Given the description of an element on the screen output the (x, y) to click on. 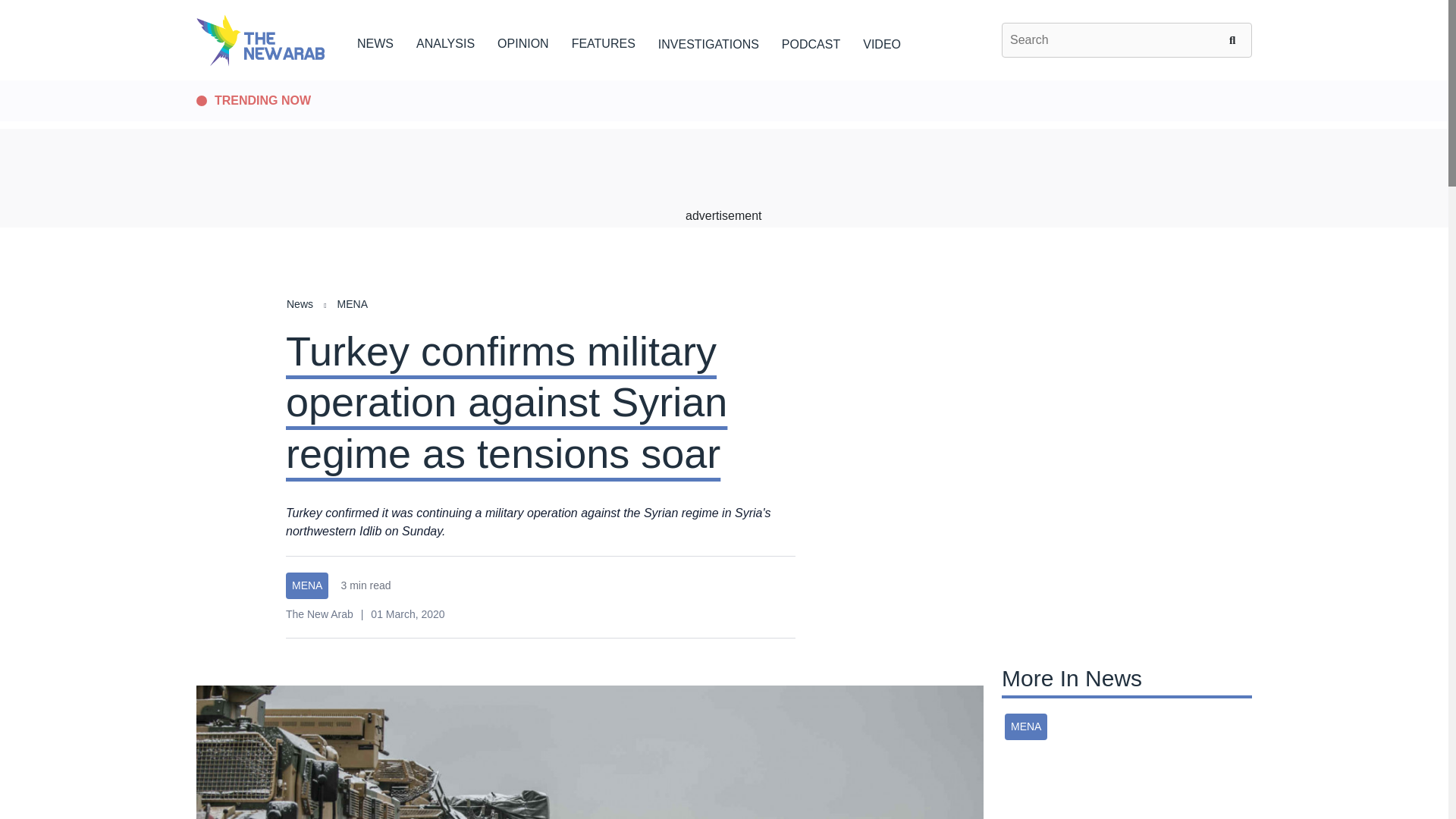
OPINION (523, 41)
ANALYSIS (445, 41)
NEWS (375, 41)
Skip to main content (724, 81)
Search (1234, 39)
